Given the description of an element on the screen output the (x, y) to click on. 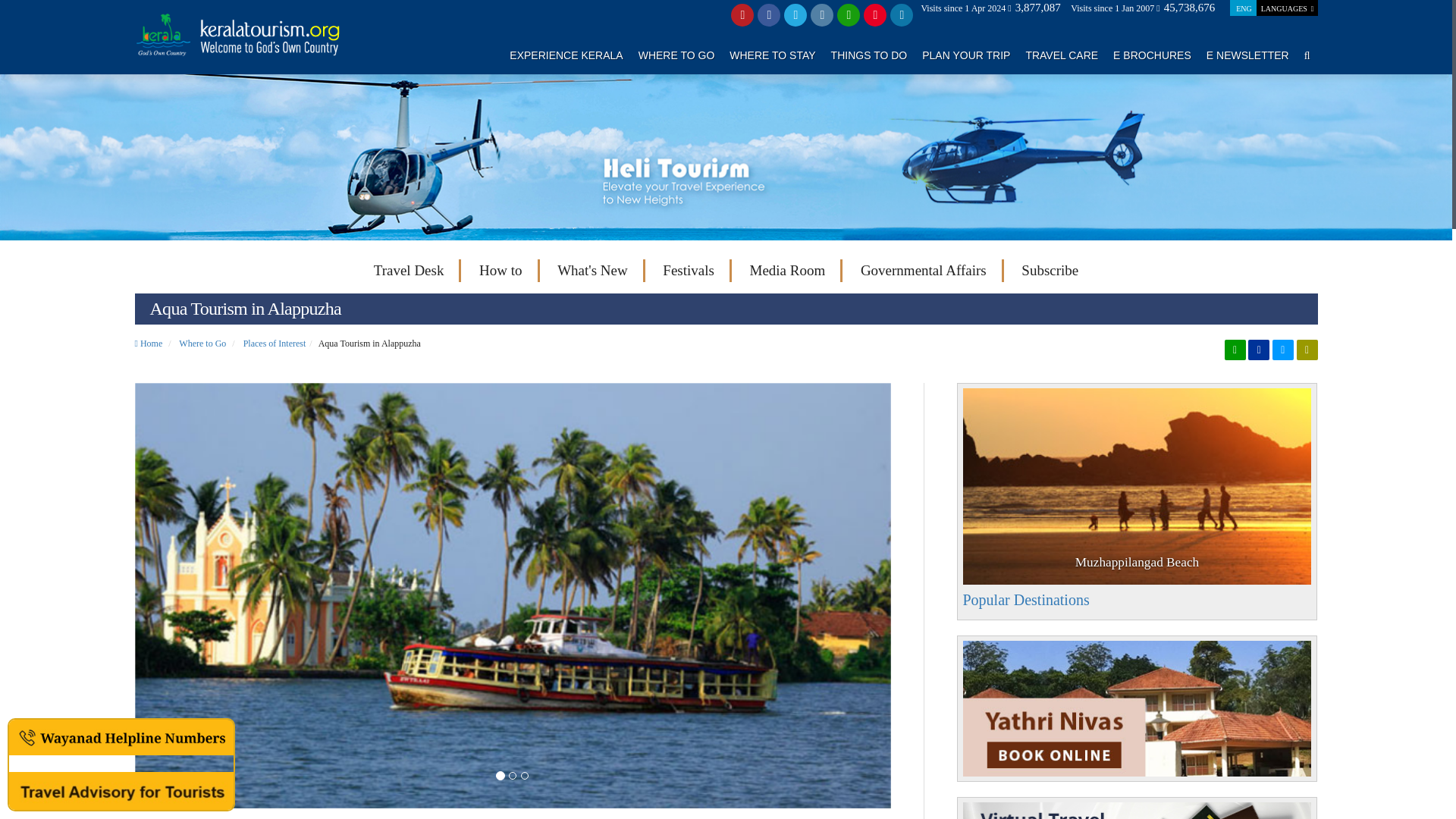
E BROCHURES (1152, 55)
Festivals (688, 270)
EXPERIENCE KERALA (566, 55)
How to (500, 270)
WHERE TO GO (676, 55)
TRAVEL CARE (1061, 55)
Media Room (787, 270)
Muzhappilangad Beach (1136, 486)
Governmental Affairs (923, 270)
THINGS TO DO (869, 55)
What's New (592, 270)
Travel Desk (408, 270)
Subscribe (1049, 270)
WHERE TO STAY (772, 55)
